Given the description of an element on the screen output the (x, y) to click on. 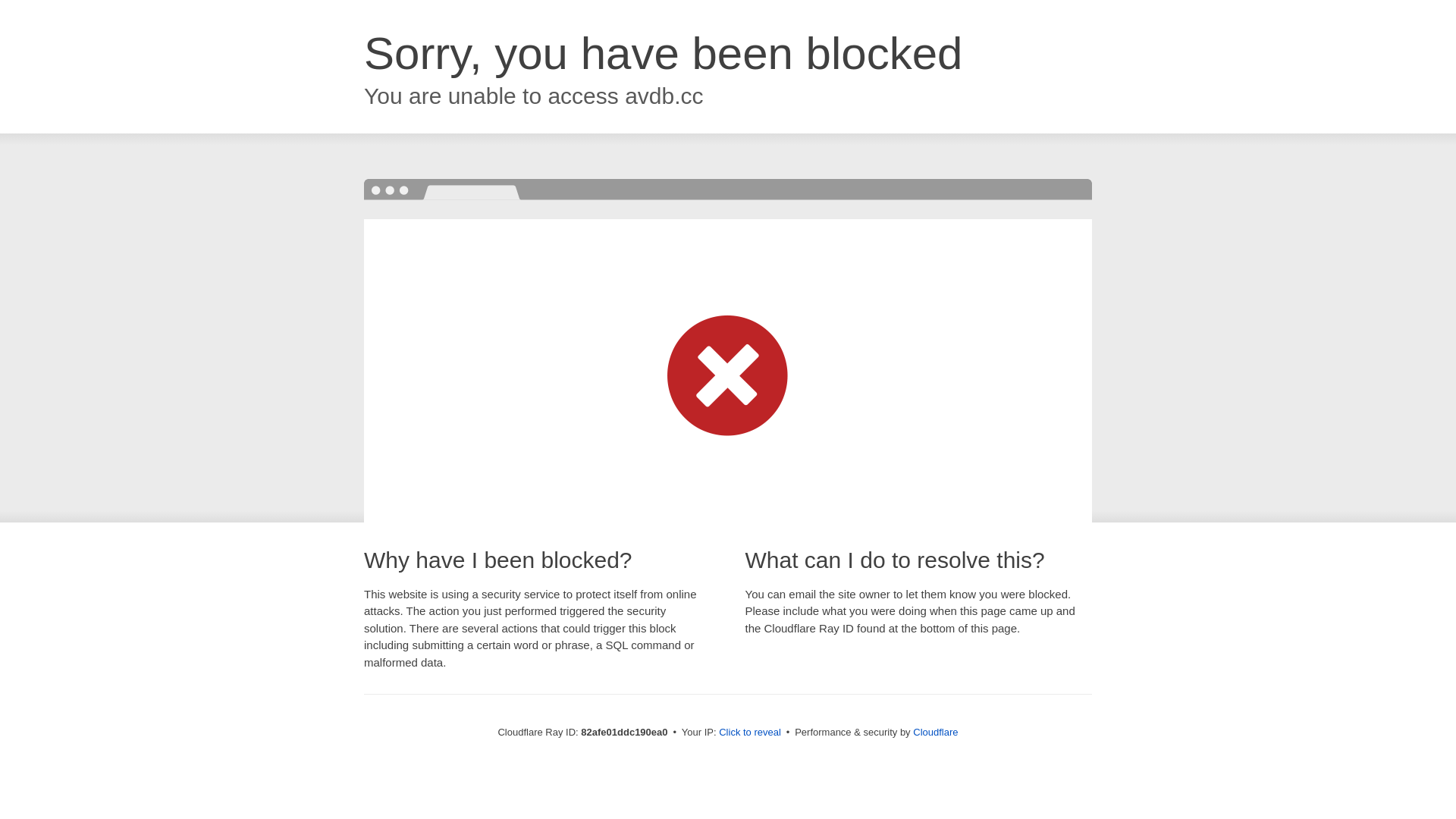
Cloudflare Element type: text (935, 731)
Click to reveal Element type: text (749, 732)
